Given the description of an element on the screen output the (x, y) to click on. 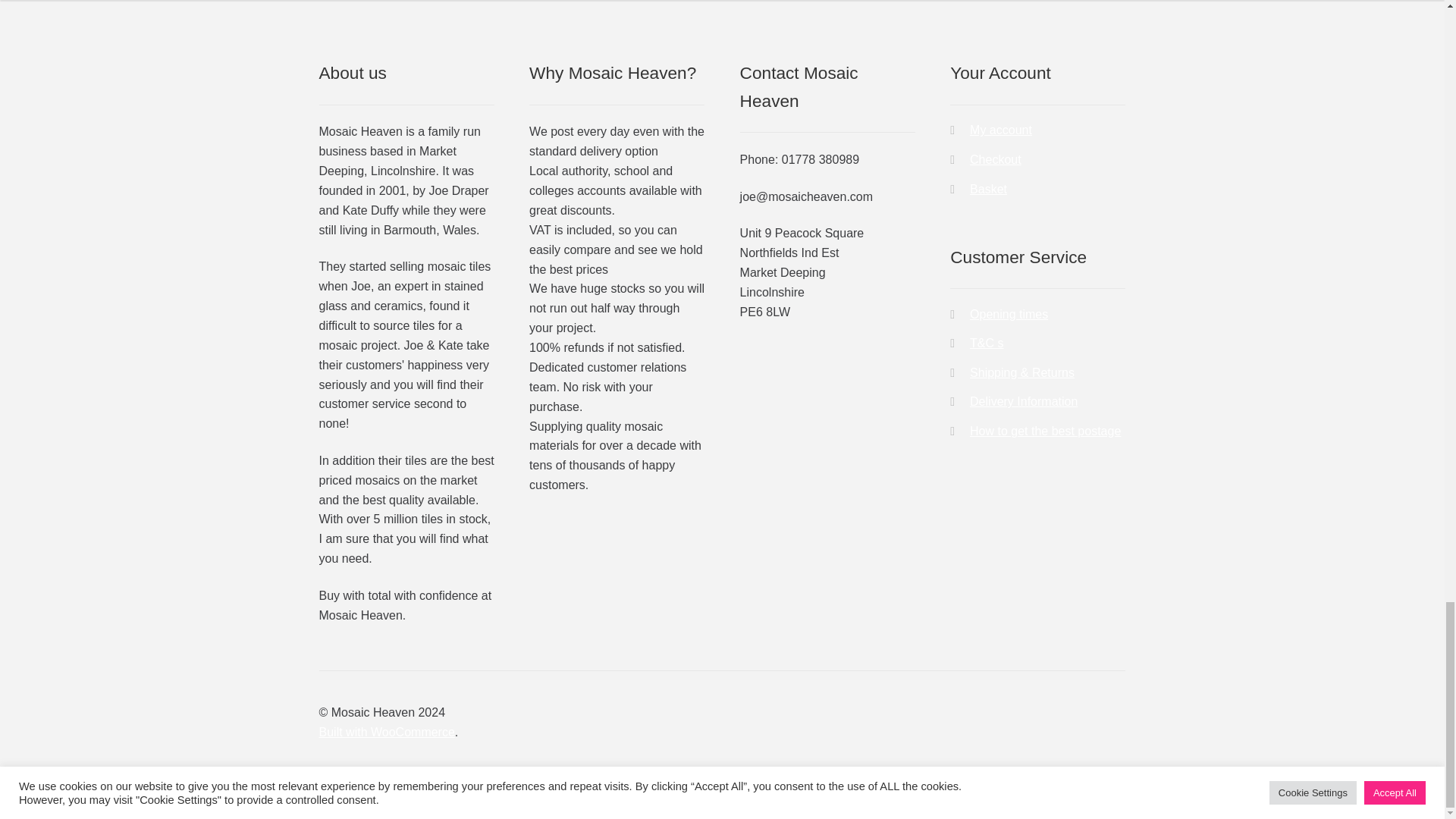
WooCommerce - The Best eCommerce Platform for WordPress (386, 730)
